Given the description of an element on the screen output the (x, y) to click on. 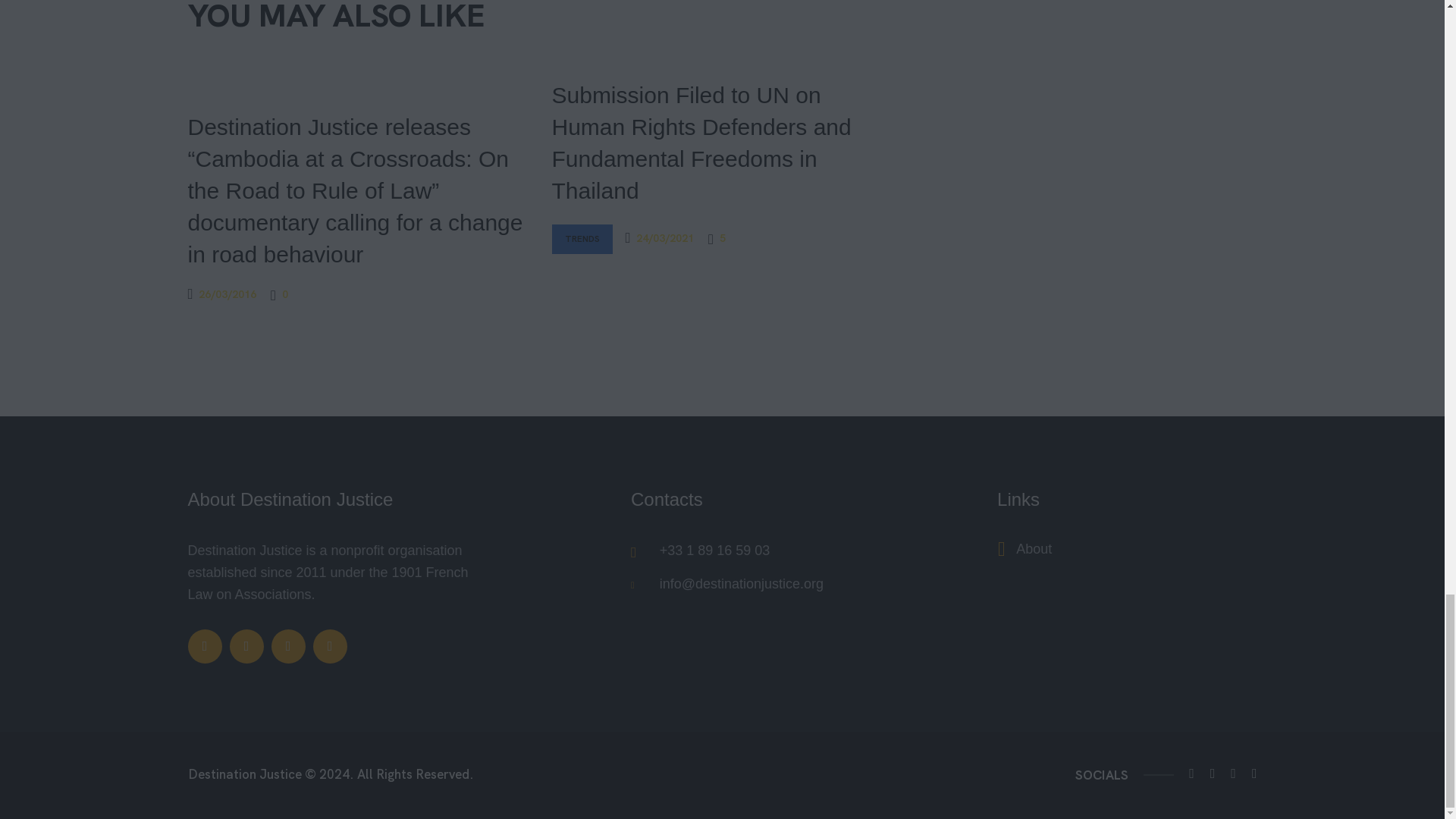
TRENDS (581, 239)
0 (279, 294)
5 (716, 238)
